Given the description of an element on the screen output the (x, y) to click on. 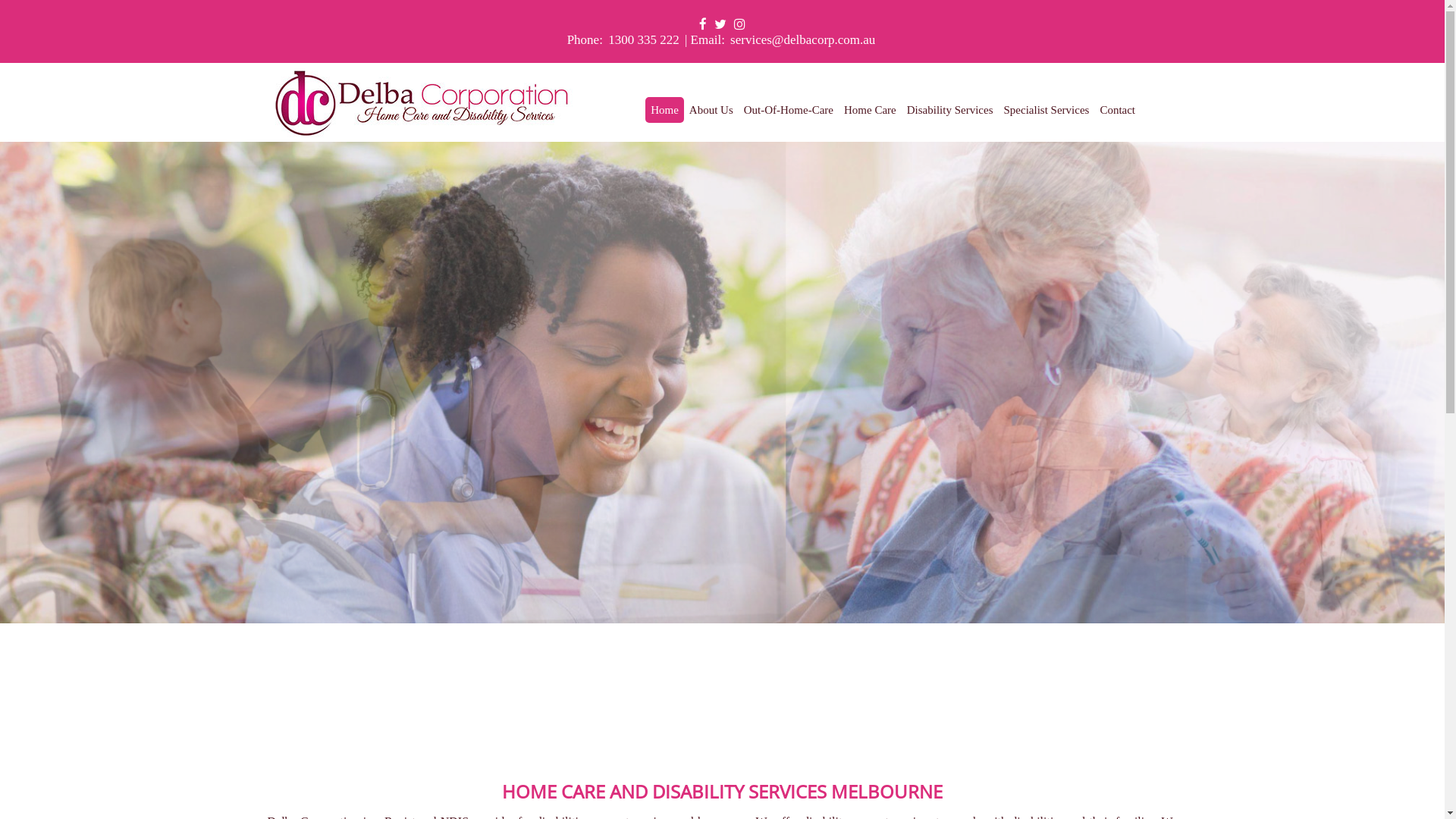
Home Element type: text (664, 109)
1300 335 222 Element type: text (643, 39)
Disability Services Element type: text (949, 109)
Contact Element type: text (1117, 109)
services@delbacorp.com.au Element type: text (802, 39)
Out-Of-Home-Care Element type: text (788, 109)
Home Care Element type: text (870, 109)
Specialist Services Element type: text (1045, 109)
About Us Element type: text (711, 109)
